Given the description of an element on the screen output the (x, y) to click on. 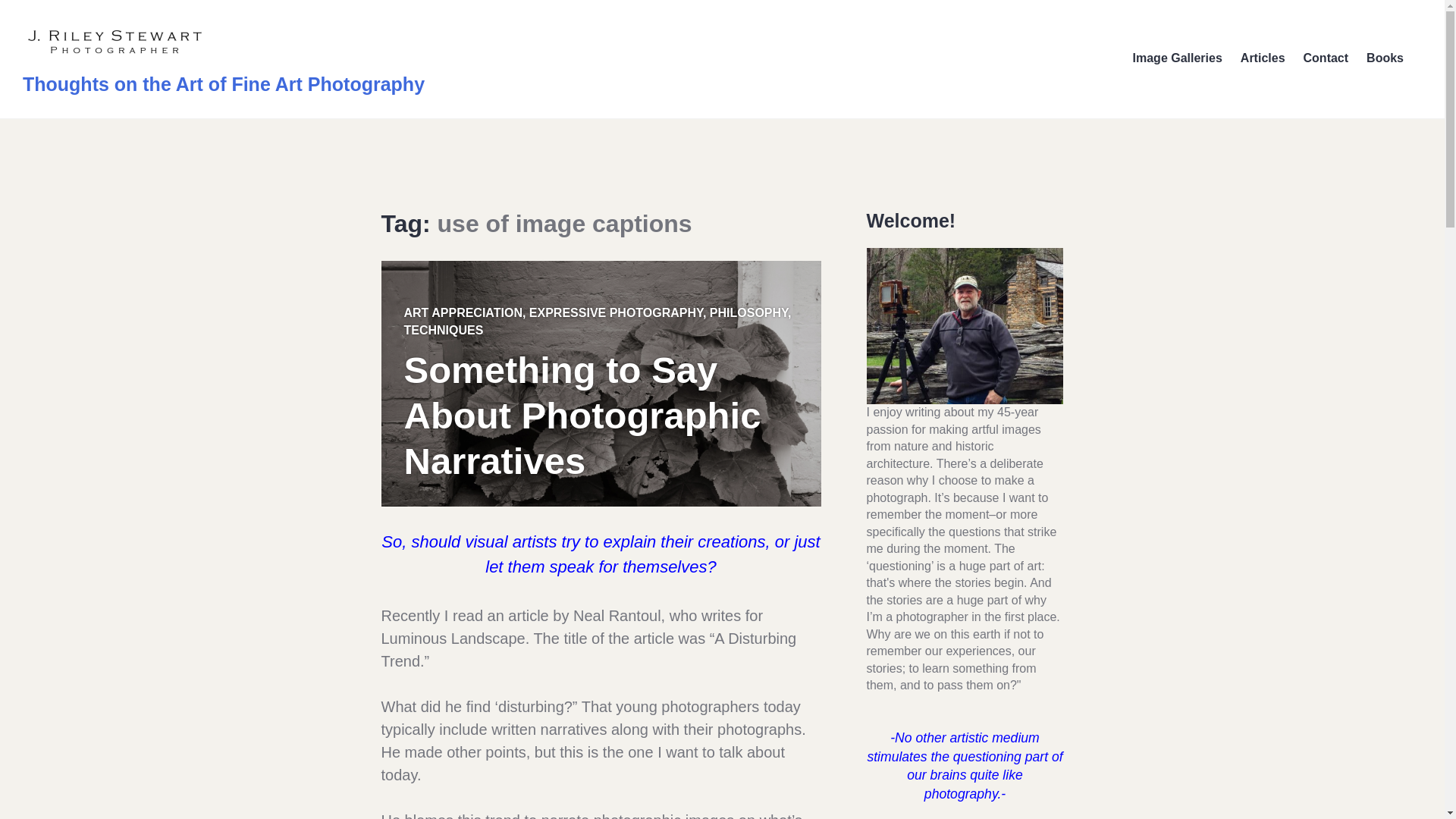
EXPRESSIVE PHOTOGRAPHY (616, 312)
Thoughts on the Art of Fine Art Photography (224, 84)
Contact (1326, 58)
Articles (1262, 58)
ART APPRECIATION (462, 312)
Something to Say About Photographic Narratives (581, 415)
Books (1385, 58)
PHILOSOPHY (748, 312)
TECHNIQUES (443, 329)
Image Galleries (1177, 58)
